Given the description of an element on the screen output the (x, y) to click on. 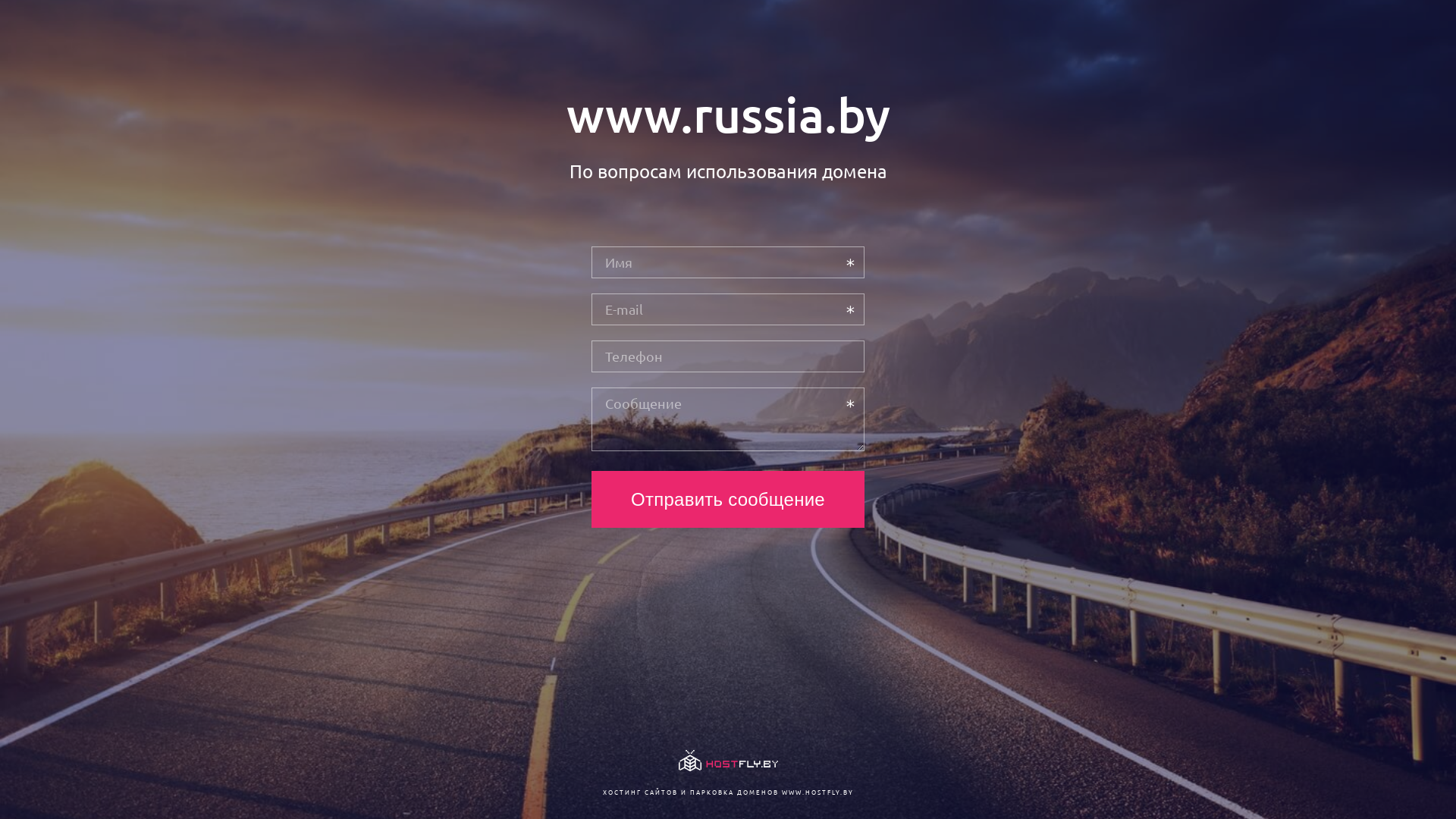
WWW.HOSTFLY.BY Element type: text (817, 791)
